Given the description of an element on the screen output the (x, y) to click on. 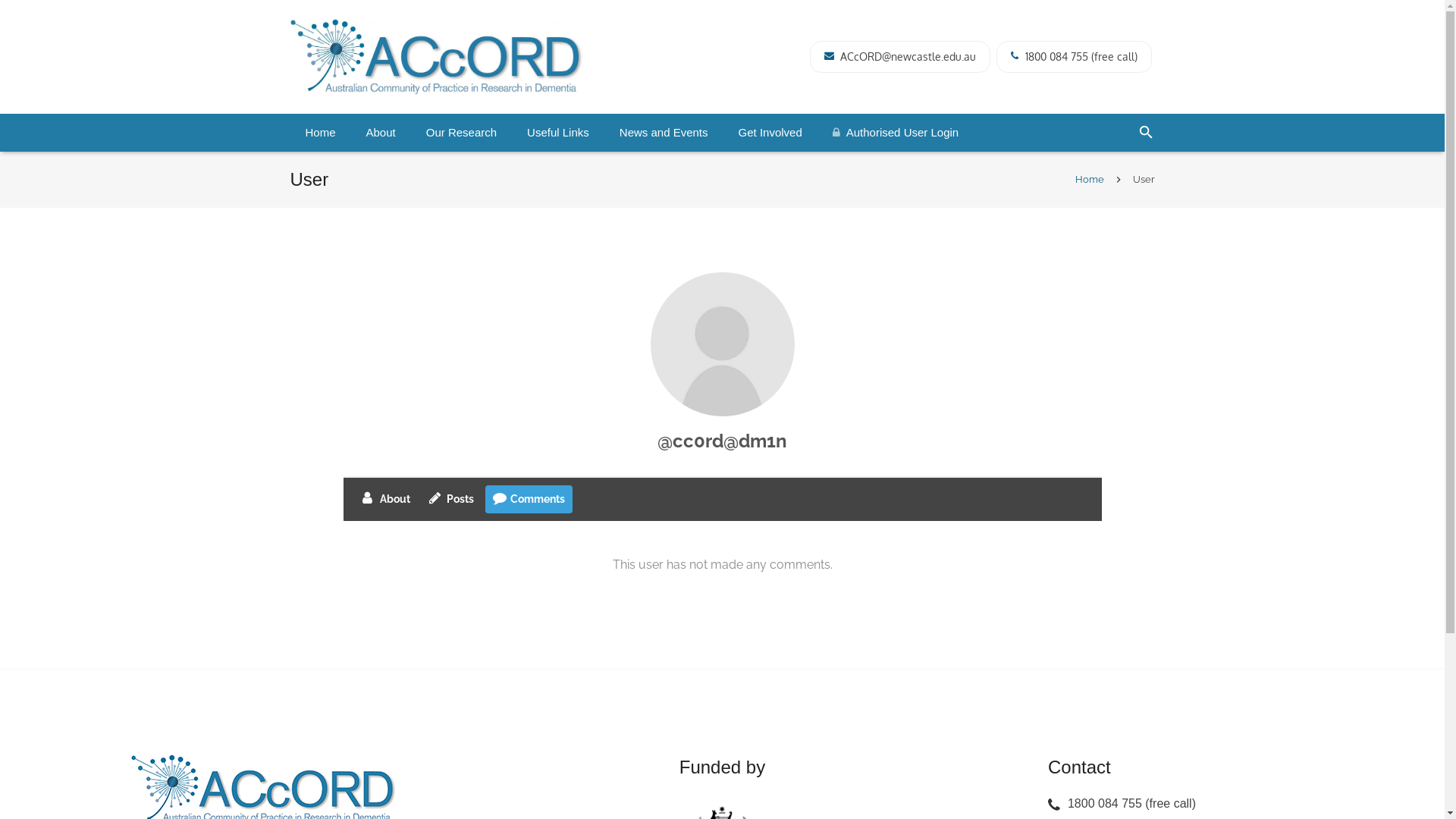
About Element type: text (385, 499)
News and Events Element type: text (663, 132)
Comments Element type: text (528, 499)
ACcORD@newcastle.edu.au Element type: text (907, 56)
@cc0rd@dm1n Element type: text (722, 440)
Our Research Element type: text (461, 132)
Useful Links Element type: text (557, 132)
Posts Element type: text (451, 499)
1800 084 755 (free call) Element type: text (1081, 56)
Home Element type: text (319, 132)
Home Element type: text (1089, 179)
About Element type: text (381, 132)
Authorised User Login Element type: text (895, 132)
Get Involved Element type: text (770, 132)
@cc0rd@dm1n Element type: hover (721, 344)
